Given the description of an element on the screen output the (x, y) to click on. 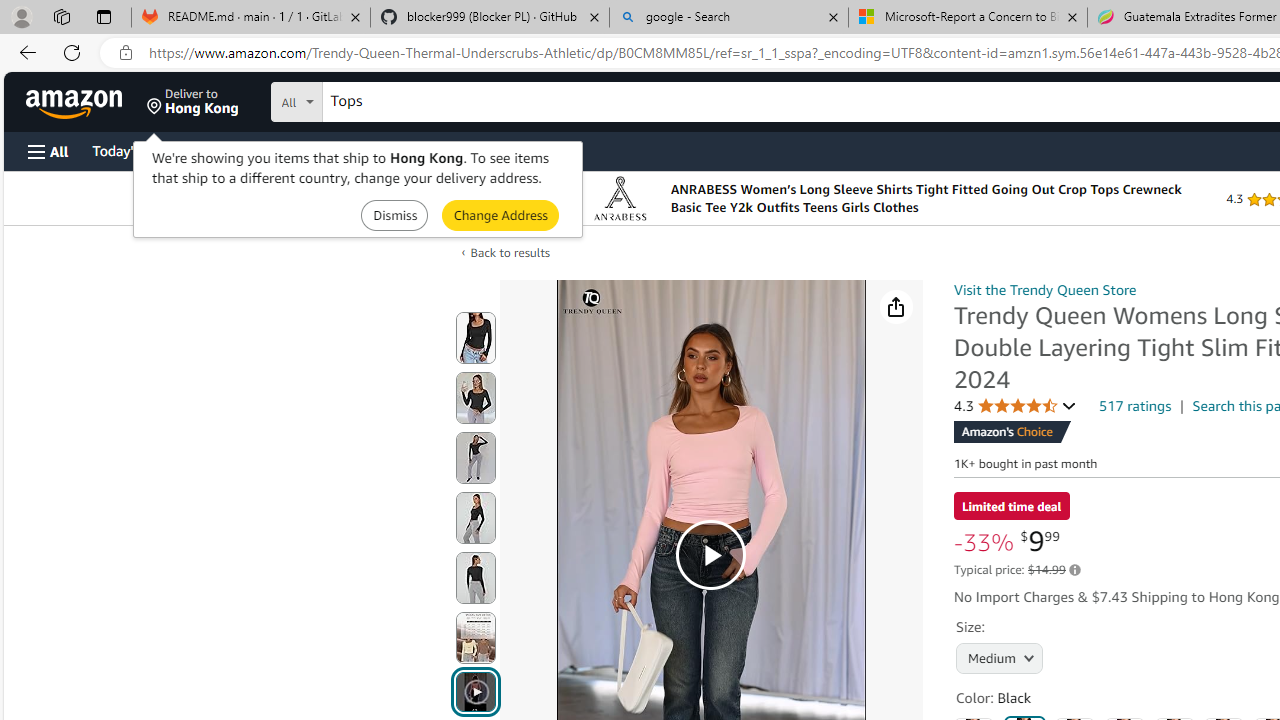
Open Menu (48, 151)
Logo (619, 198)
